Given the description of an element on the screen output the (x, y) to click on. 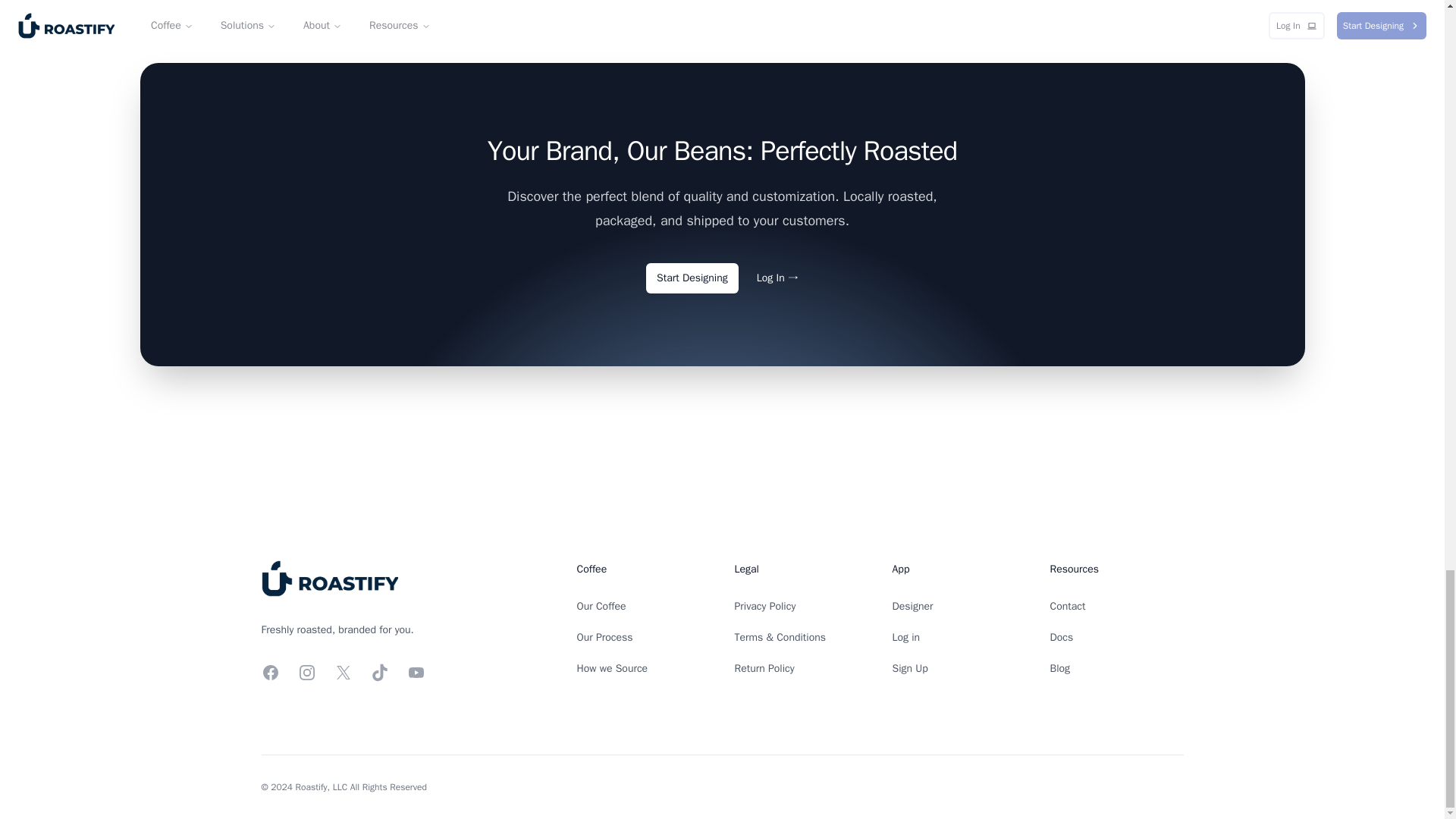
Facebook (269, 672)
Start Designing (692, 277)
X (342, 672)
TikTok (378, 672)
Instagram (306, 672)
